Given the description of an element on the screen output the (x, y) to click on. 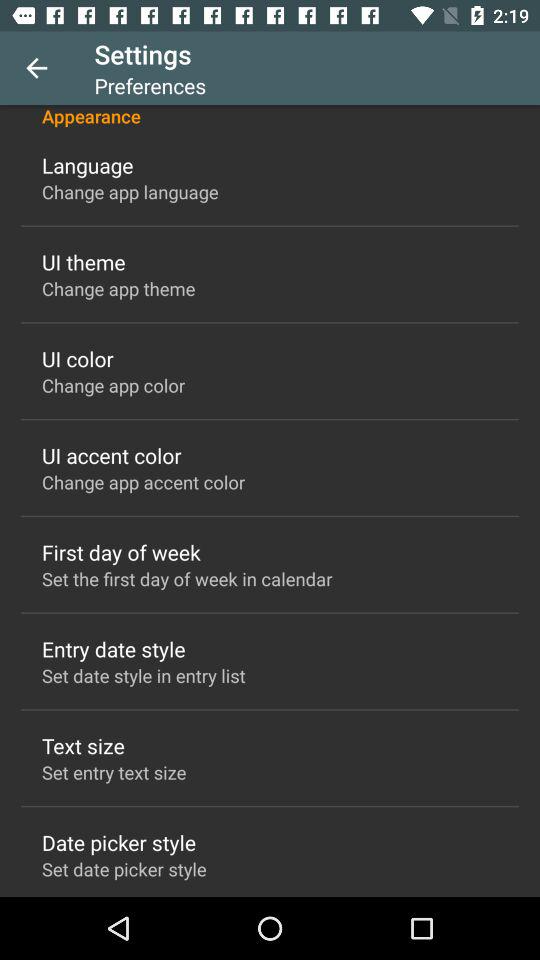
scroll to appearance icon (270, 116)
